Given the description of an element on the screen output the (x, y) to click on. 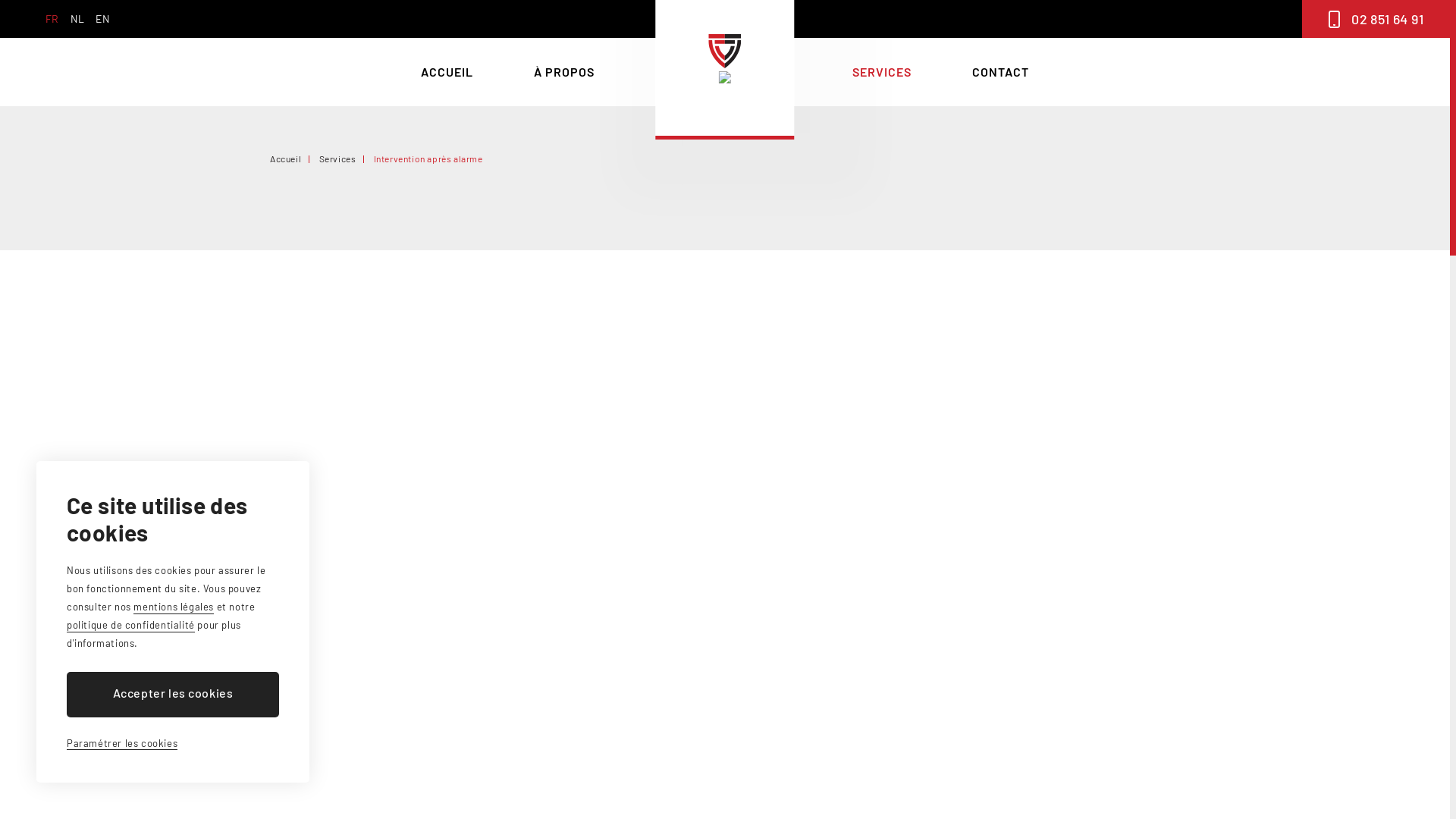
SERVICES Element type: text (881, 71)
Accueil - Cerese Security Element type: hover (724, 69)
FR Element type: text (52, 18)
CONTACT Element type: text (1000, 71)
Services Element type: text (337, 158)
NL Element type: text (77, 18)
02 851 64 91 Element type: text (1375, 18)
Accueil Element type: text (285, 158)
EN Element type: text (102, 18)
ACCUEIL Element type: text (446, 71)
